Given the description of an element on the screen output the (x, y) to click on. 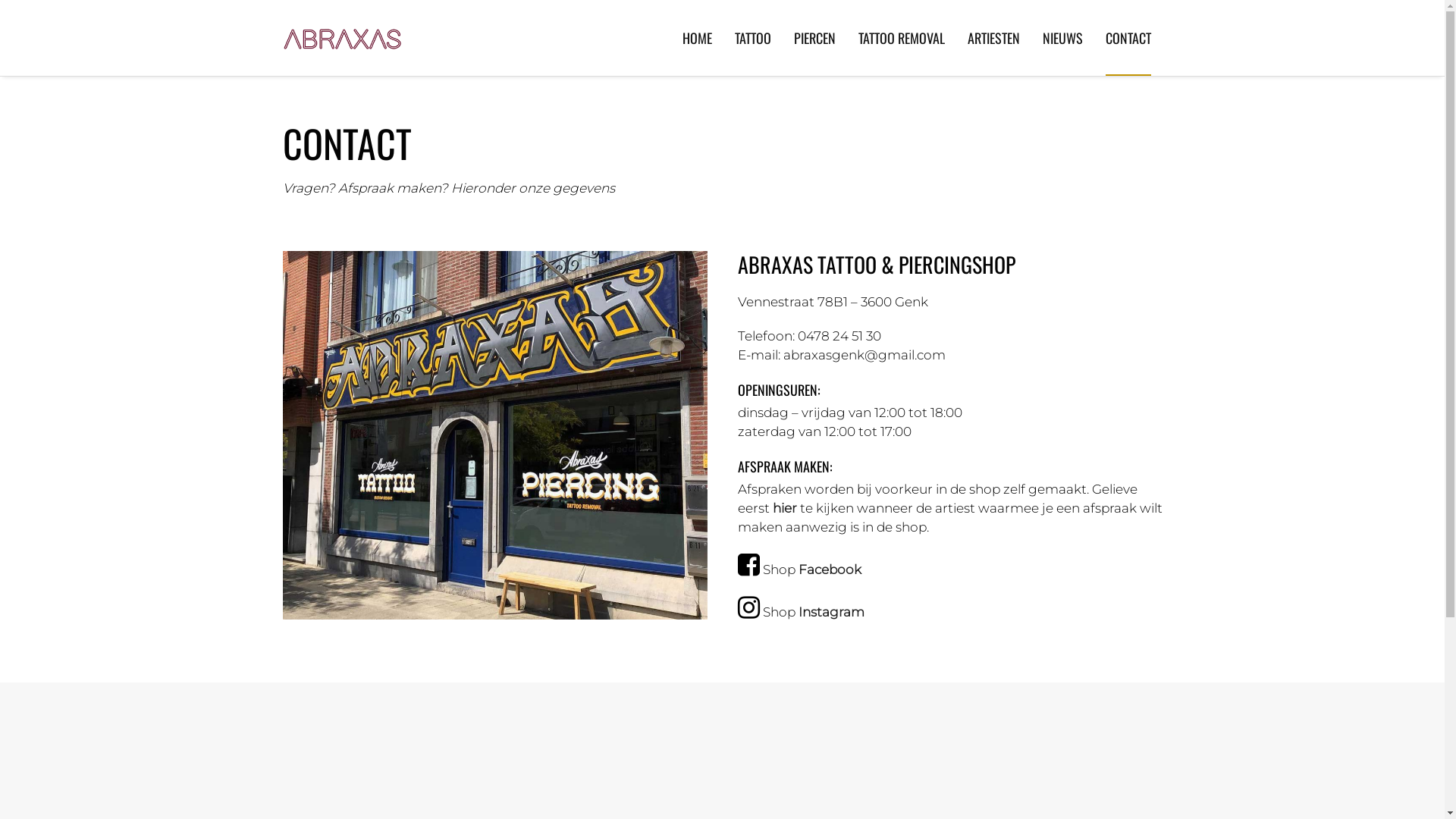
Instagram Element type: text (830, 611)
TATTOO REMOVAL Element type: text (901, 37)
CONTACT Element type: text (1128, 37)
TATTOO Element type: text (752, 37)
hier Element type: text (783, 507)
ARTIESTEN Element type: text (993, 37)
PIERCEN Element type: text (813, 37)
Facebook Element type: text (828, 569)
NIEUWS Element type: text (1061, 37)
HOME Element type: text (697, 37)
